Given the description of an element on the screen output the (x, y) to click on. 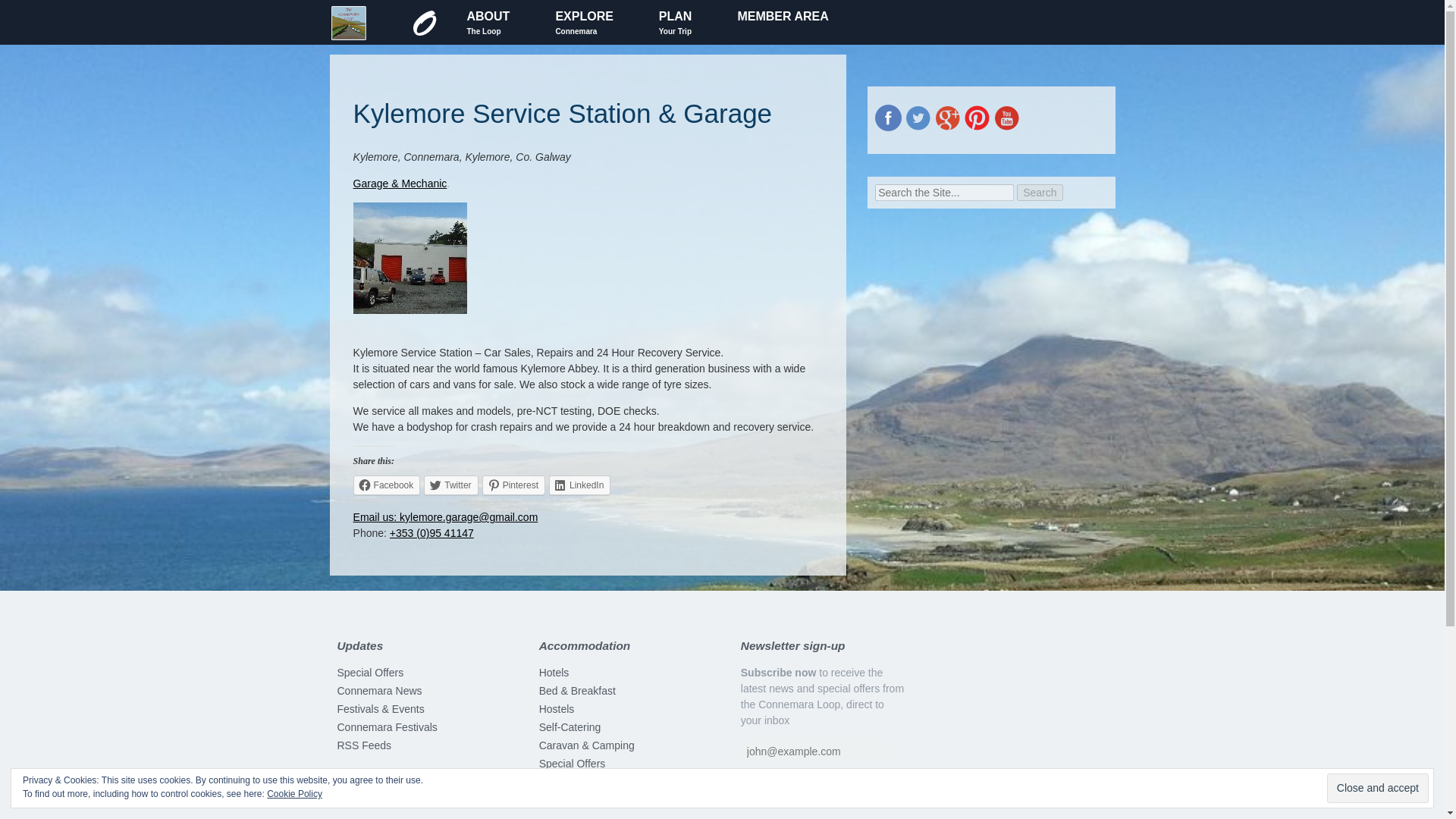
Pinterest (512, 485)
LinkedIn (579, 485)
Click to share on Facebook (386, 485)
ABOUT (488, 22)
Facebook (386, 485)
Twitter (450, 485)
Close and accept (1377, 788)
Click to share on Twitter (450, 485)
PLAN (675, 22)
Search (1039, 192)
